Given the description of an element on the screen output the (x, y) to click on. 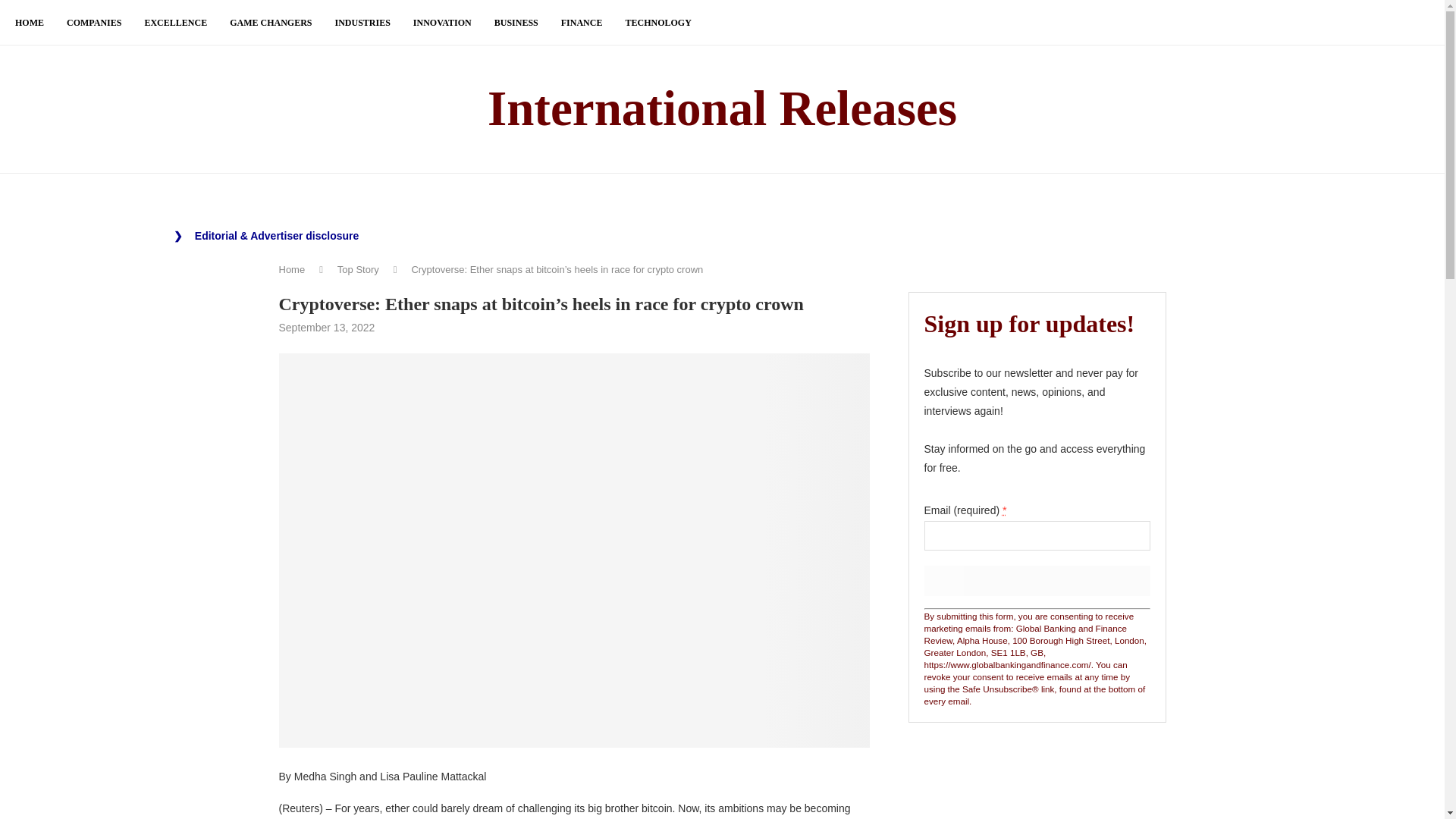
INDUSTRIES (362, 22)
COMPANIES (93, 22)
EXCELLENCE (175, 22)
TECHNOLOGY (657, 22)
Sign up! (1036, 581)
FINANCE (581, 22)
INNOVATION (442, 22)
International Releases (721, 109)
Sign up! (1036, 581)
Home (292, 269)
Top Story (357, 269)
GAME CHANGERS (270, 22)
BUSINESS (516, 22)
